Given the description of an element on the screen output the (x, y) to click on. 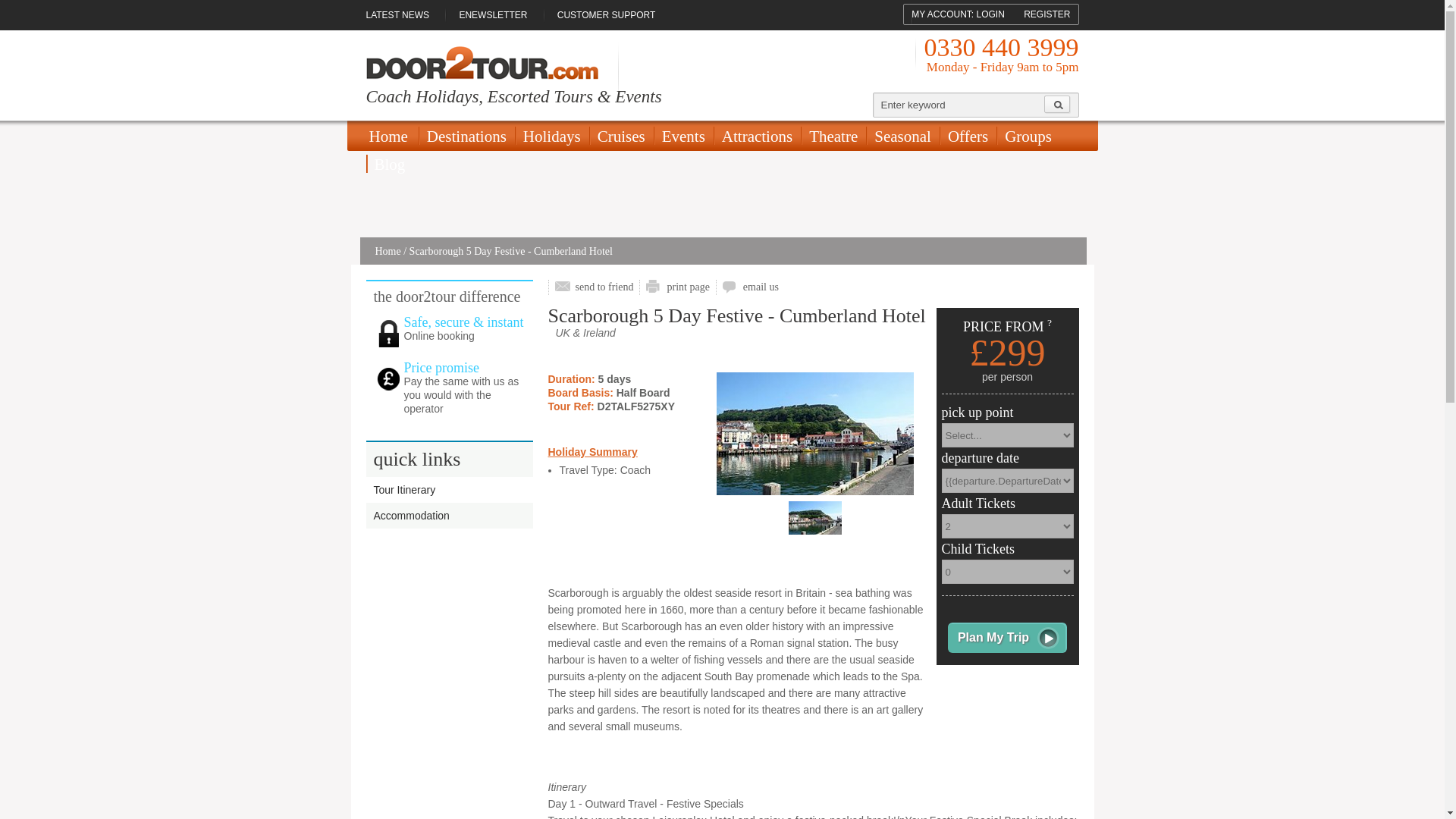
Destinations (467, 135)
ENEWSLETTER (492, 15)
Holidays (552, 135)
Enter keyword (958, 104)
CUSTOMER SUPPORT (606, 15)
Door 2 Tour (480, 62)
REGISTER (1046, 14)
LOGIN (989, 14)
LATEST NEWS (403, 15)
Home (391, 135)
